Given the description of an element on the screen output the (x, y) to click on. 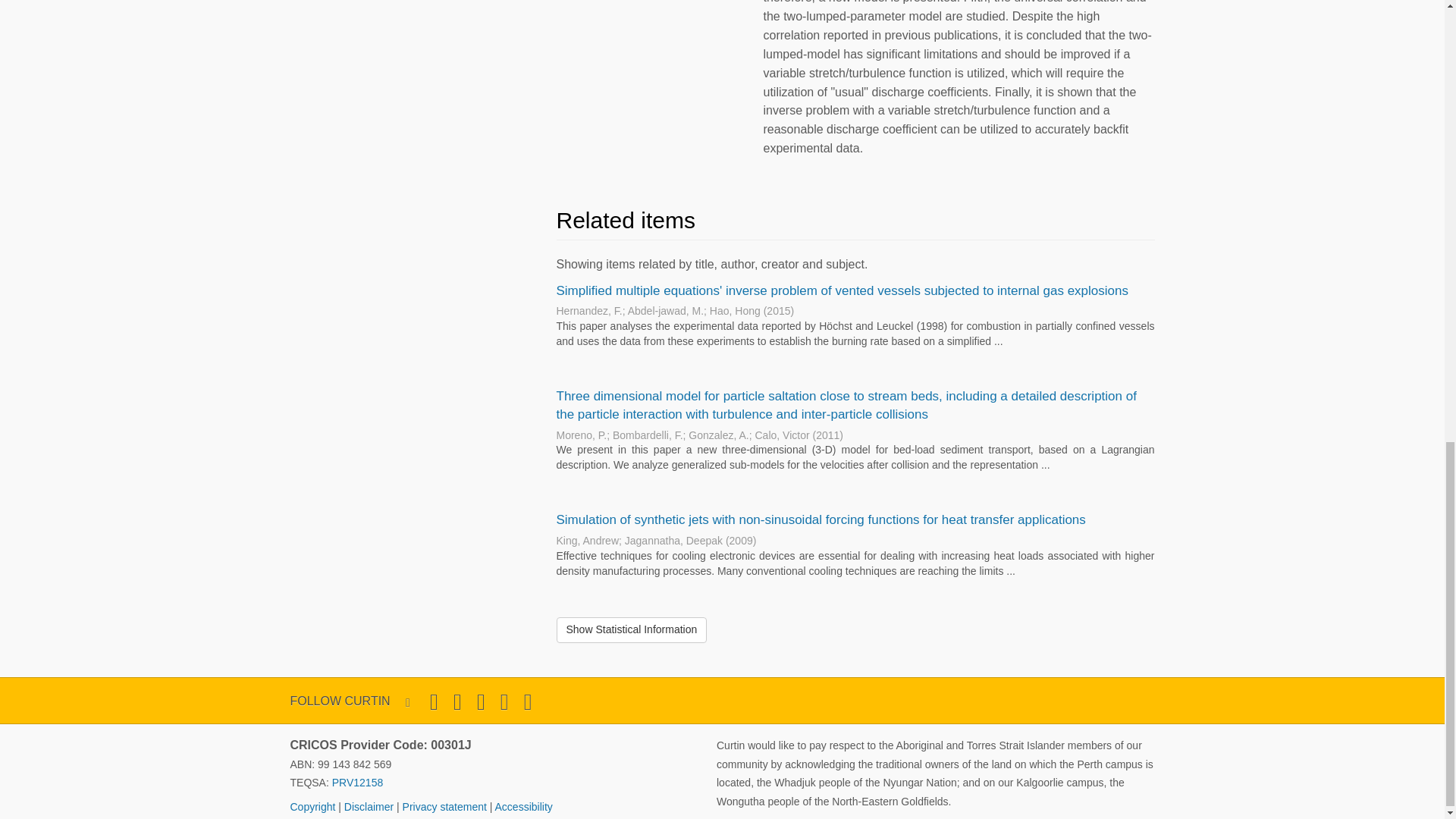
Show Statistical Information (631, 629)
